Given the description of an element on the screen output the (x, y) to click on. 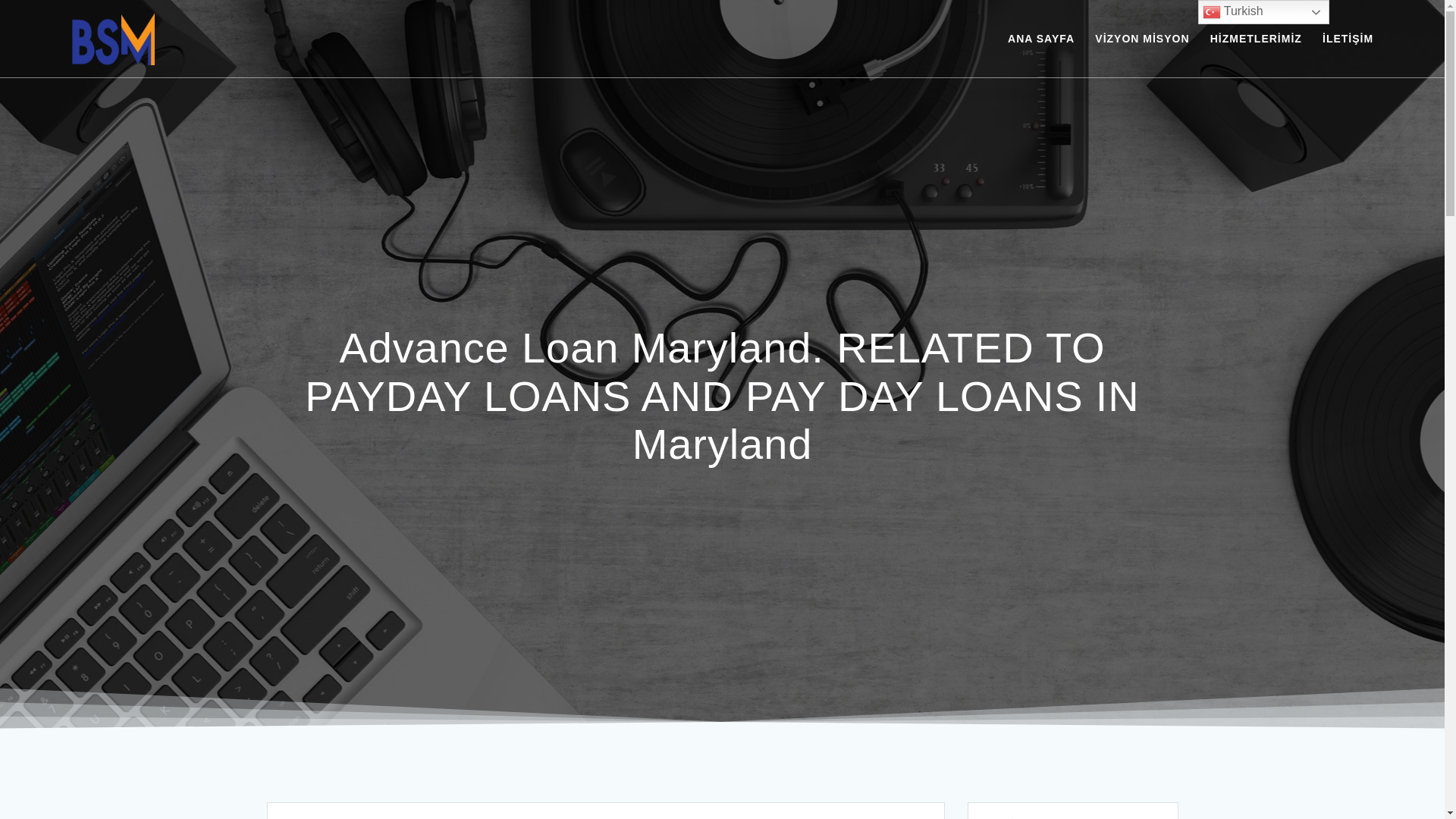
VIZYON MISYON (1141, 38)
ANA SAYFA (1040, 38)
HIZMETLERIMIZ (1255, 38)
